Given the description of an element on the screen output the (x, y) to click on. 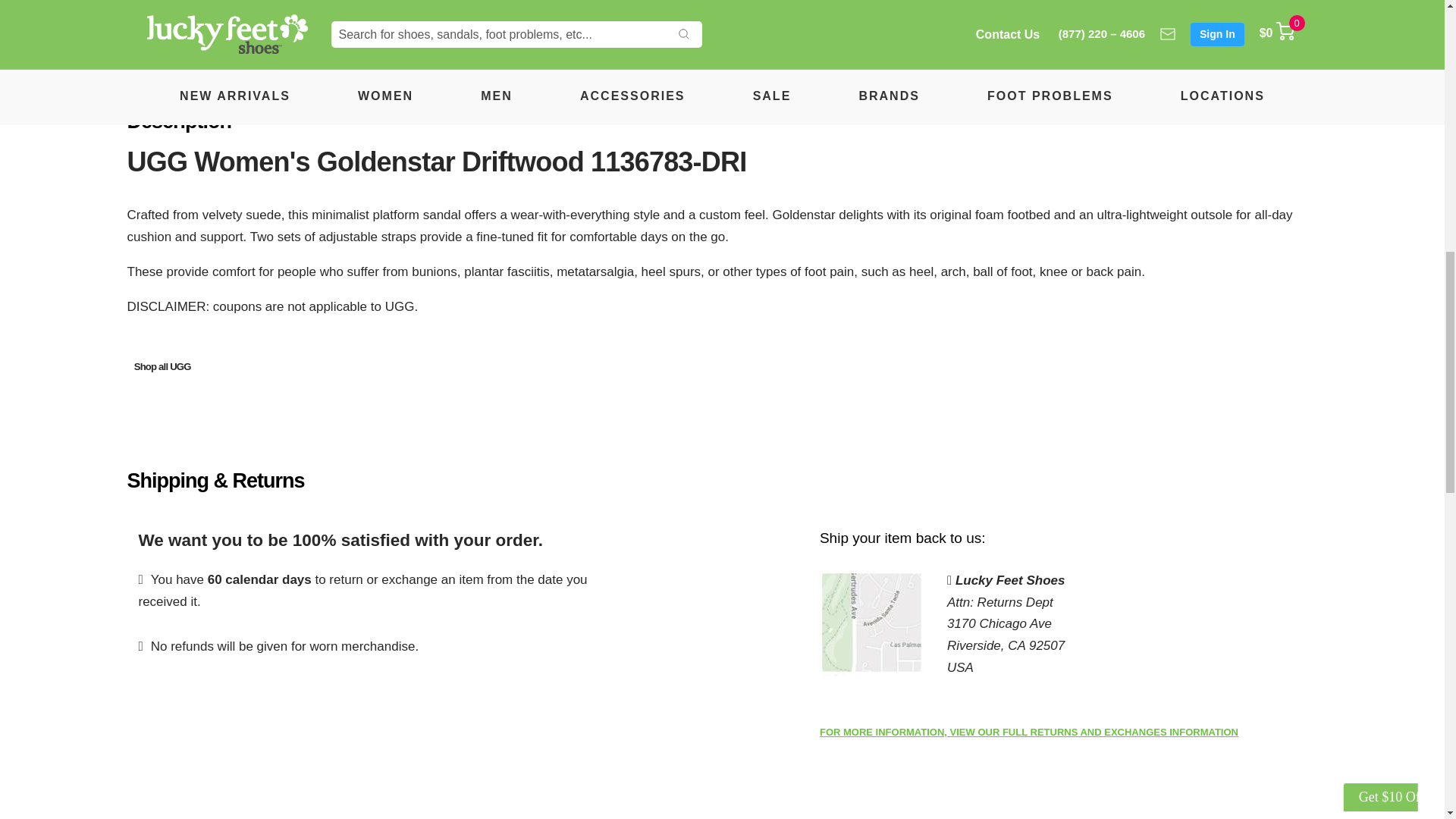
You May Also Like (890, 28)
Shop all UGG (161, 366)
Description (280, 28)
